Given the description of an element on the screen output the (x, y) to click on. 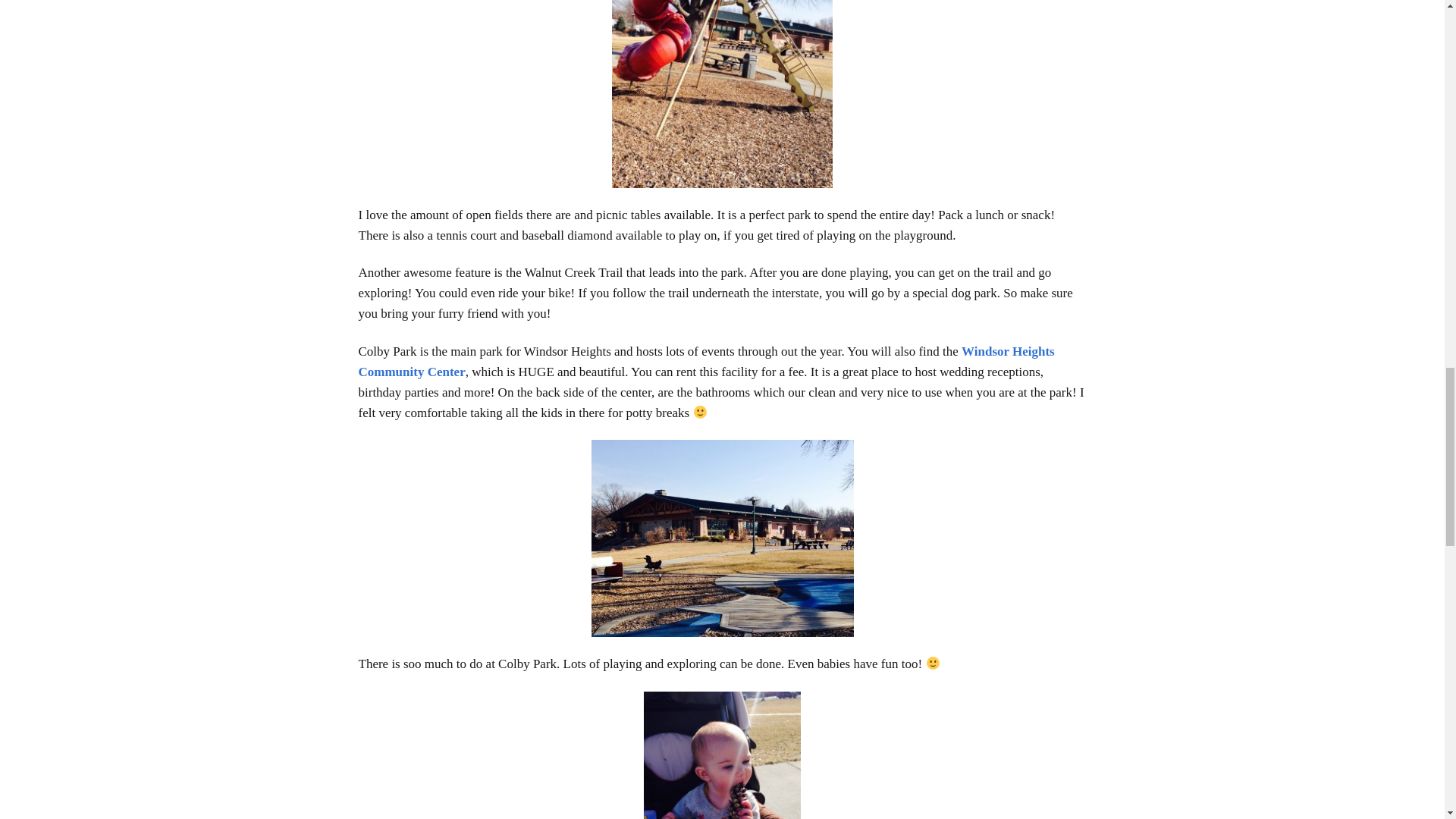
Windsor Heights Community Center (706, 361)
